Given the description of an element on the screen output the (x, y) to click on. 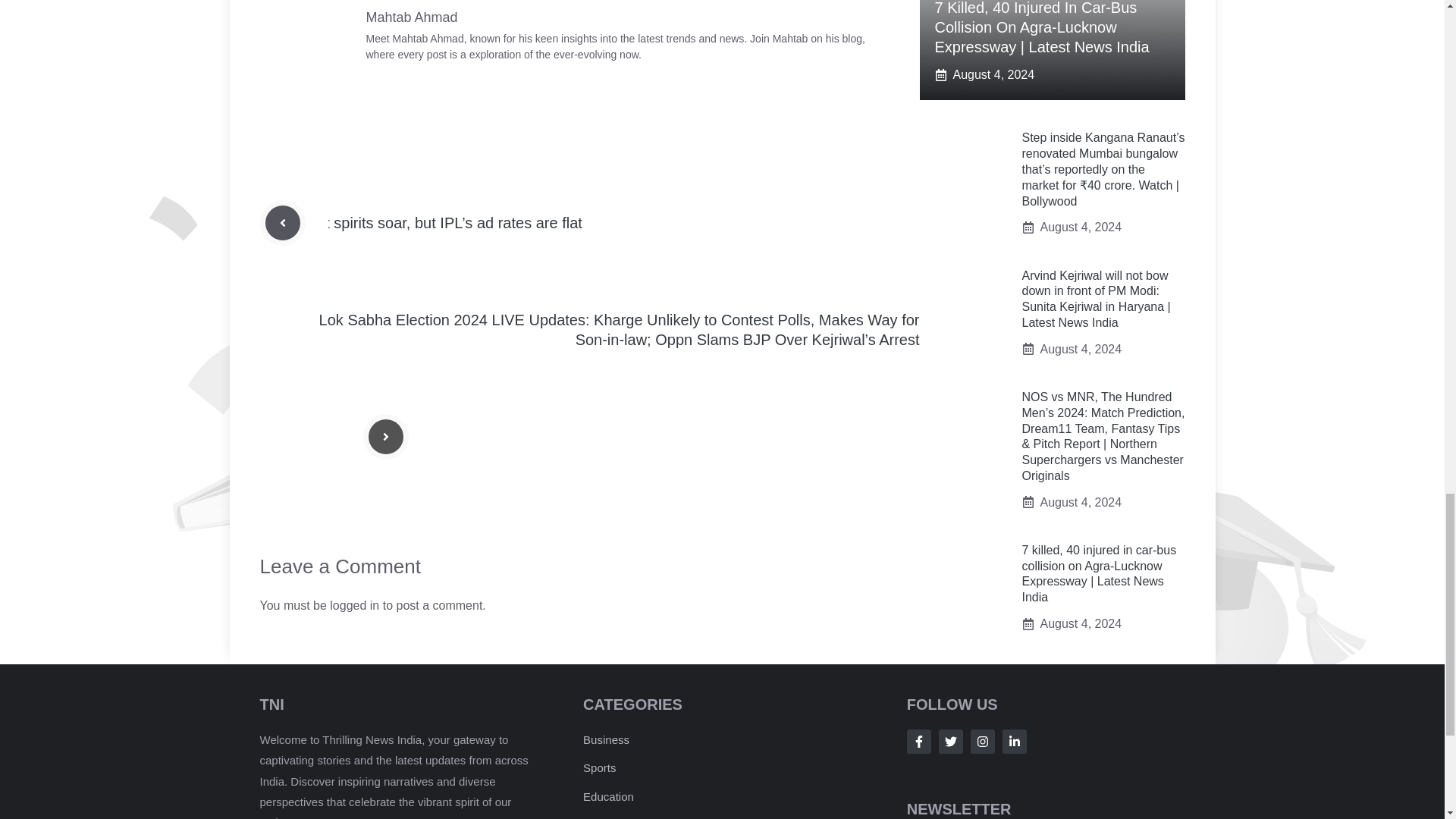
Mahtab Ahmad (411, 17)
logged in (354, 604)
Entertainment (618, 818)
Business (605, 739)
Education (608, 796)
Sports (599, 767)
